Given the description of an element on the screen output the (x, y) to click on. 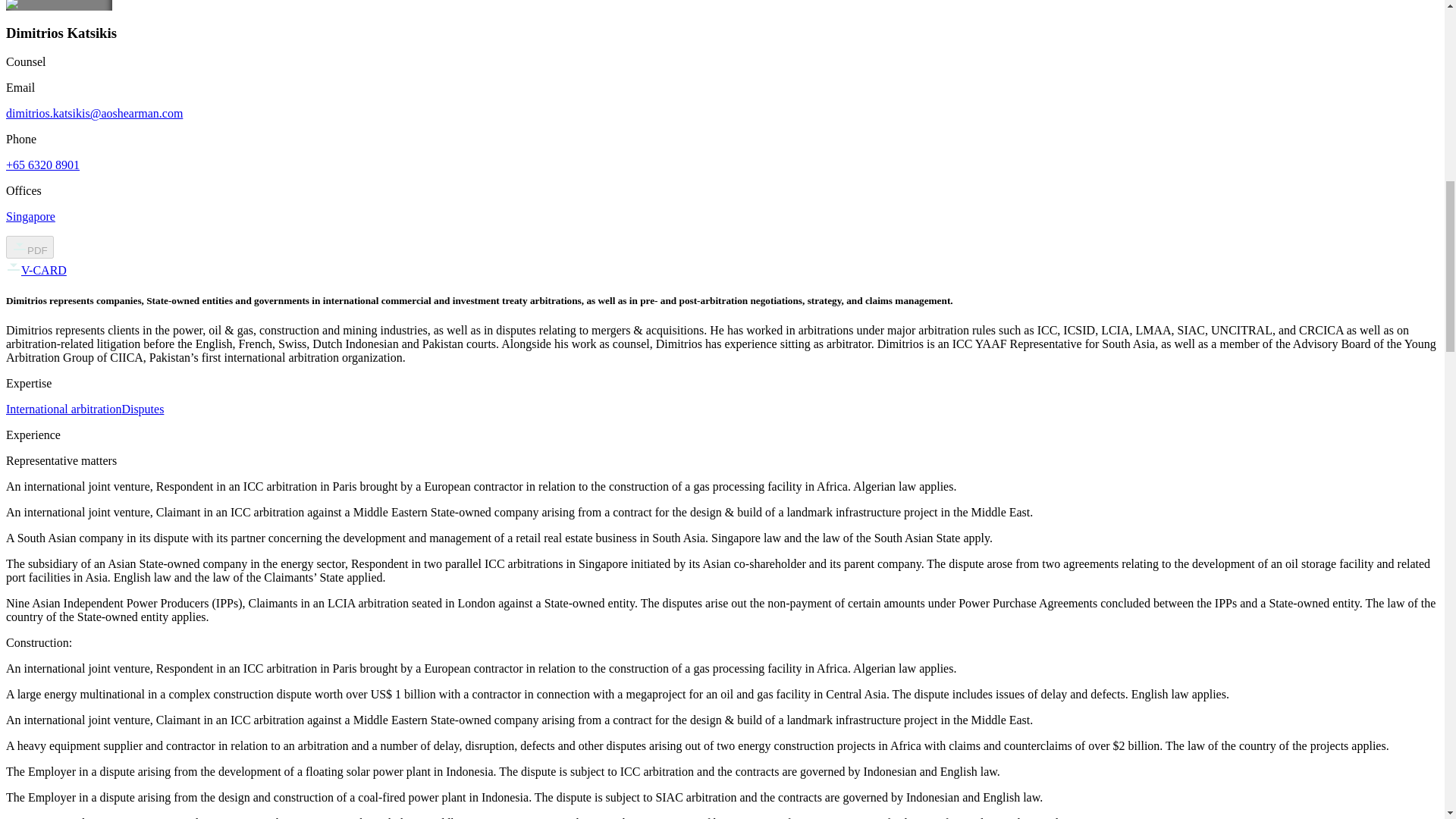
PDF (29, 246)
Singapore (30, 215)
International arbitration (62, 408)
V-CARD (35, 269)
Disputes (141, 408)
